Given the description of an element on the screen output the (x, y) to click on. 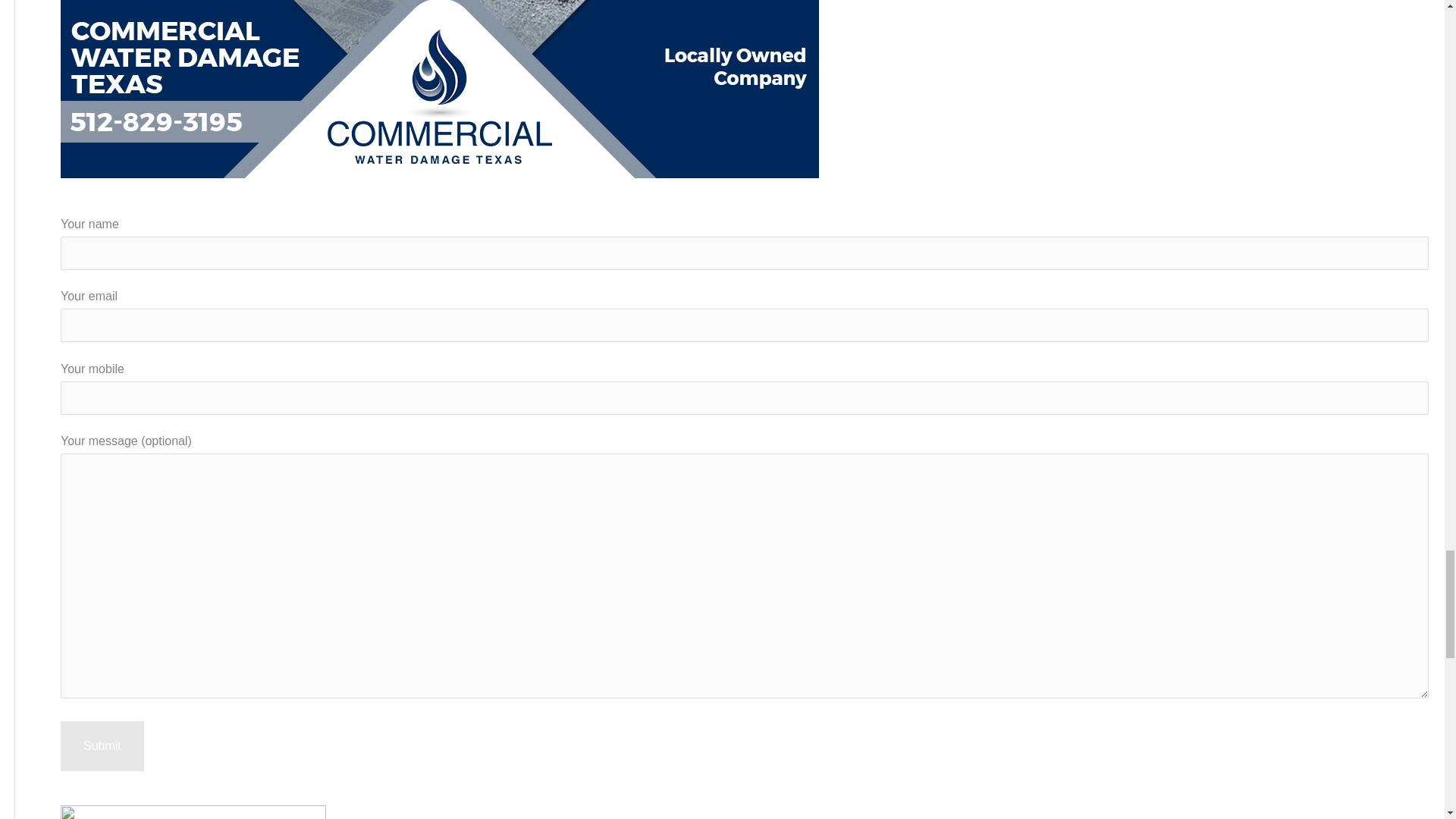
Submit (102, 746)
Submit (102, 746)
